Given the description of an element on the screen output the (x, y) to click on. 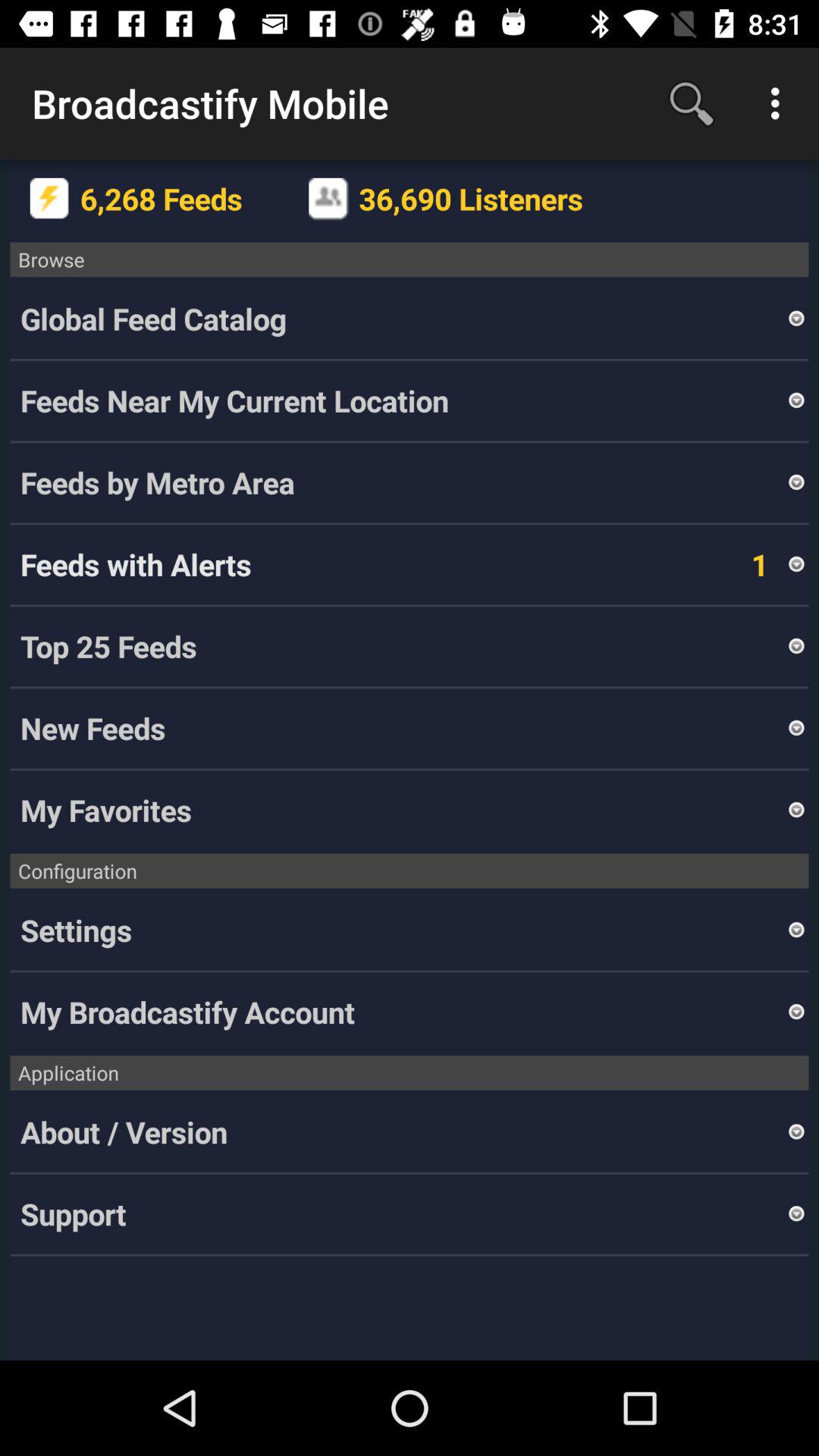
launch feeds by metro icon (402, 482)
